Given the description of an element on the screen output the (x, y) to click on. 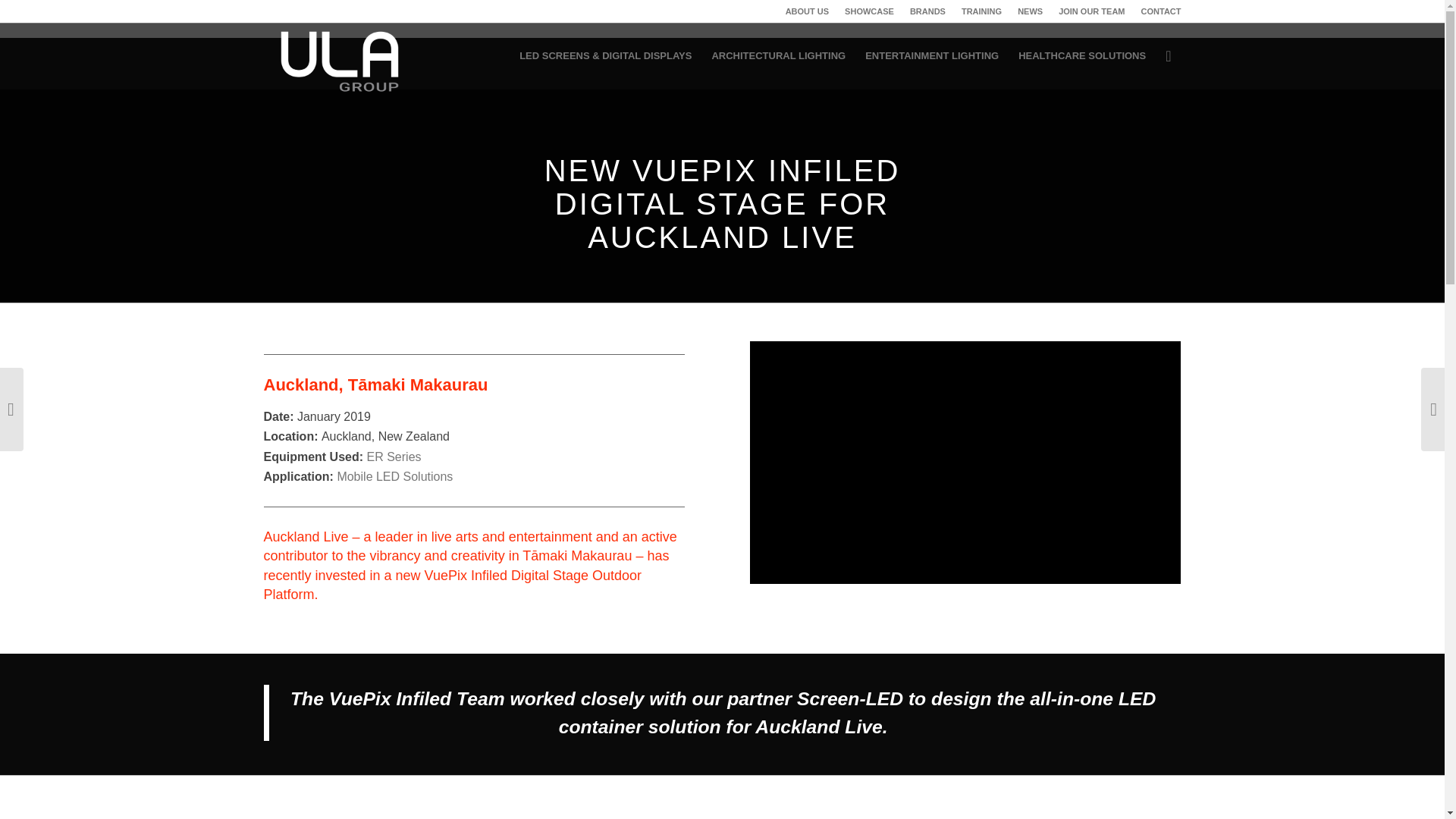
ABOUT US (807, 11)
ARCHITECTURAL LIGHTING (778, 55)
ENTERTAINMENT LIGHTING (932, 55)
JOIN OUR TEAM (1091, 11)
HEALTHCARE SOLUTIONS (1082, 55)
CONTACT (1160, 11)
DS trailer (964, 462)
Mobile LED Solutions (394, 476)
ER Series (394, 456)
BRANDS (927, 11)
SHOWCASE (868, 11)
TRAINING (980, 11)
NEWS (1029, 11)
